Given the description of an element on the screen output the (x, y) to click on. 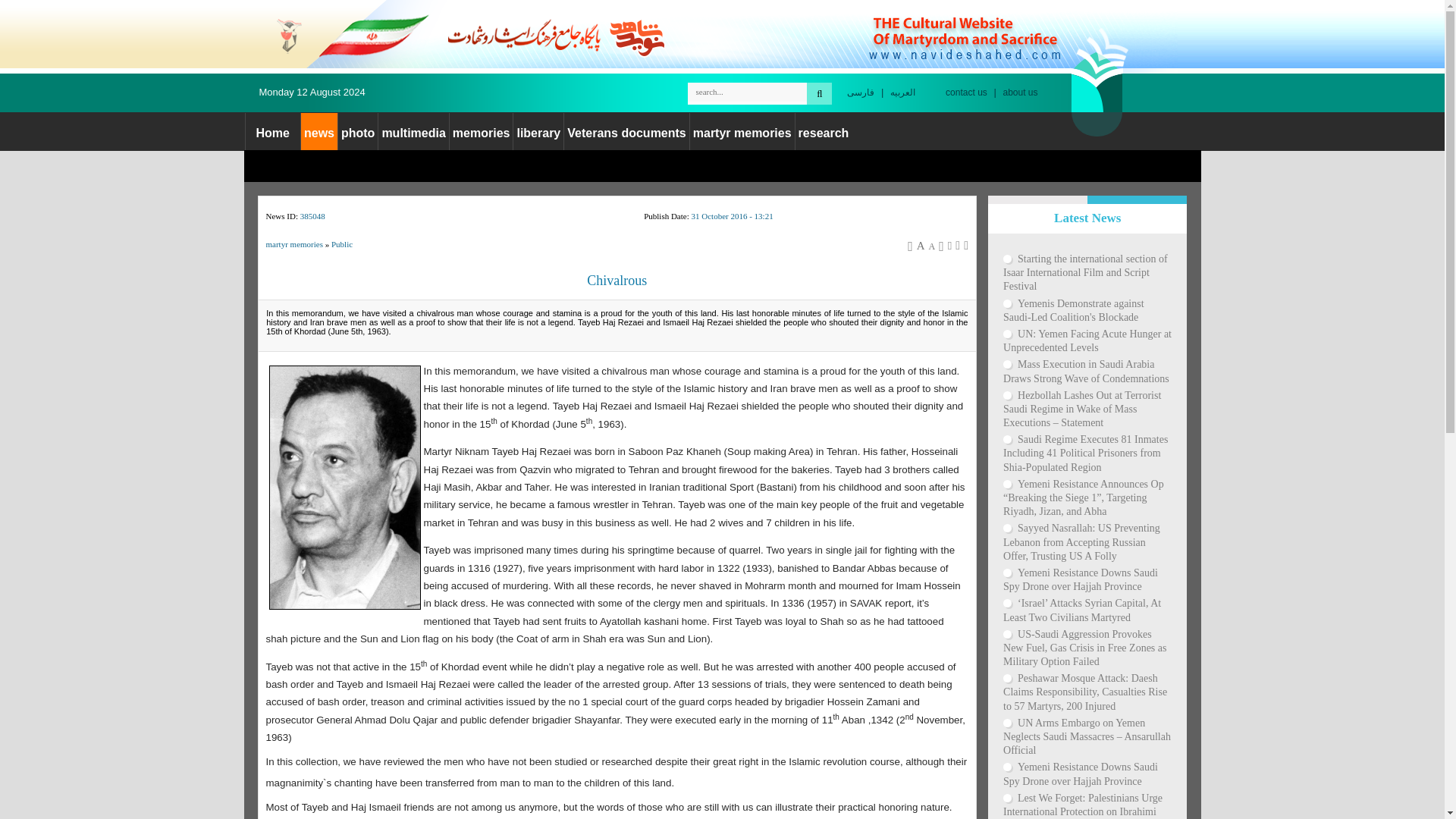
liberary (538, 133)
news (319, 133)
photo (357, 133)
memories (481, 133)
martyr memories (742, 133)
multimedia (413, 133)
Home (272, 133)
Veterans documents (626, 133)
research (822, 133)
